Given the description of an element on the screen output the (x, y) to click on. 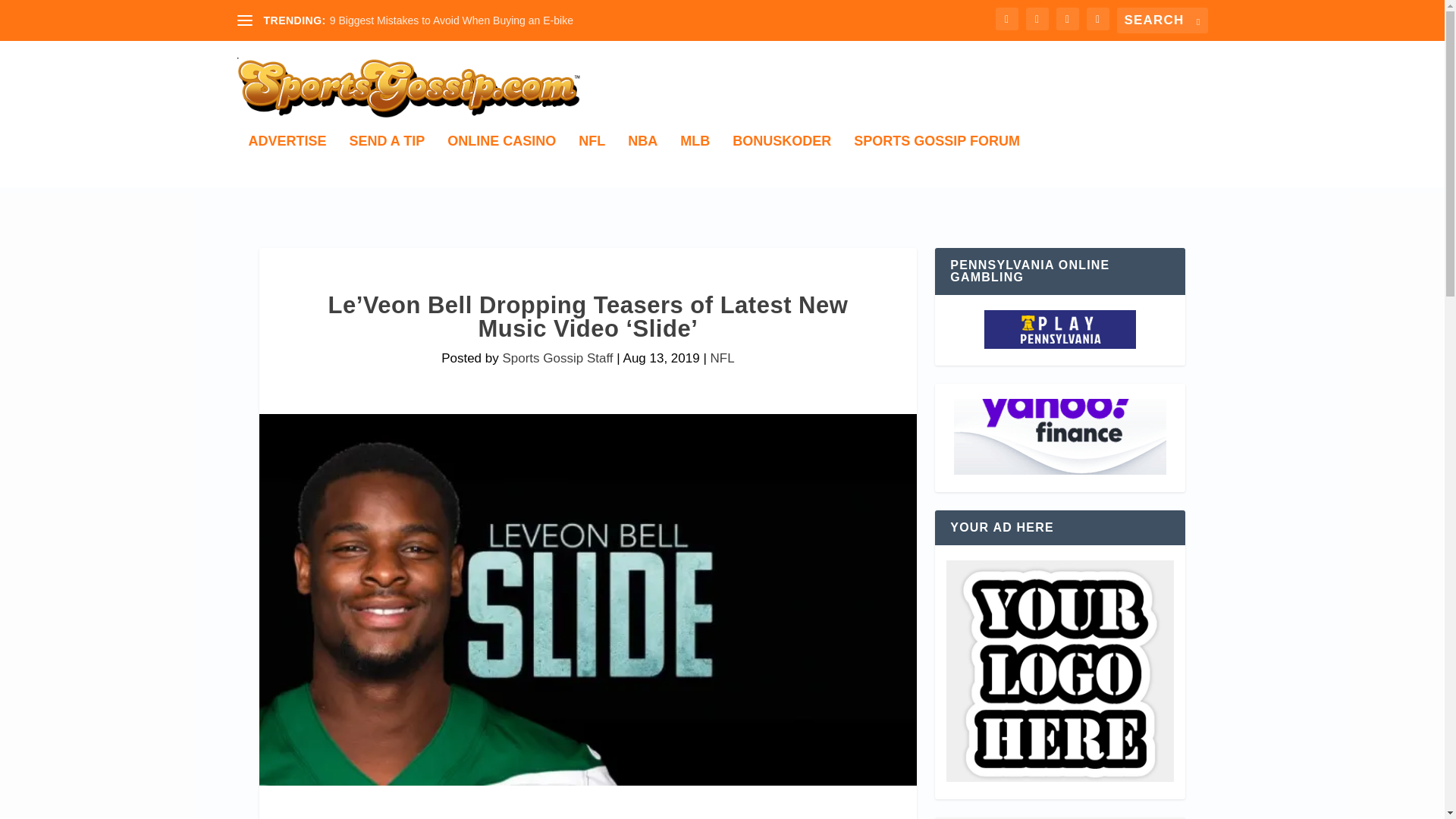
NFL (722, 358)
ONLINE CASINO (501, 161)
9 Biggest Mistakes to Avoid When Buying an E-bike (451, 20)
Search for: (1161, 20)
ADVERTISE (287, 161)
SEND A TIP (387, 161)
SPORTS GOSSIP FORUM (936, 161)
Sports Gossip Staff (557, 358)
BONUSKODER (781, 161)
Casinos Not on Gamstop (1059, 437)
